Given the description of an element on the screen output the (x, y) to click on. 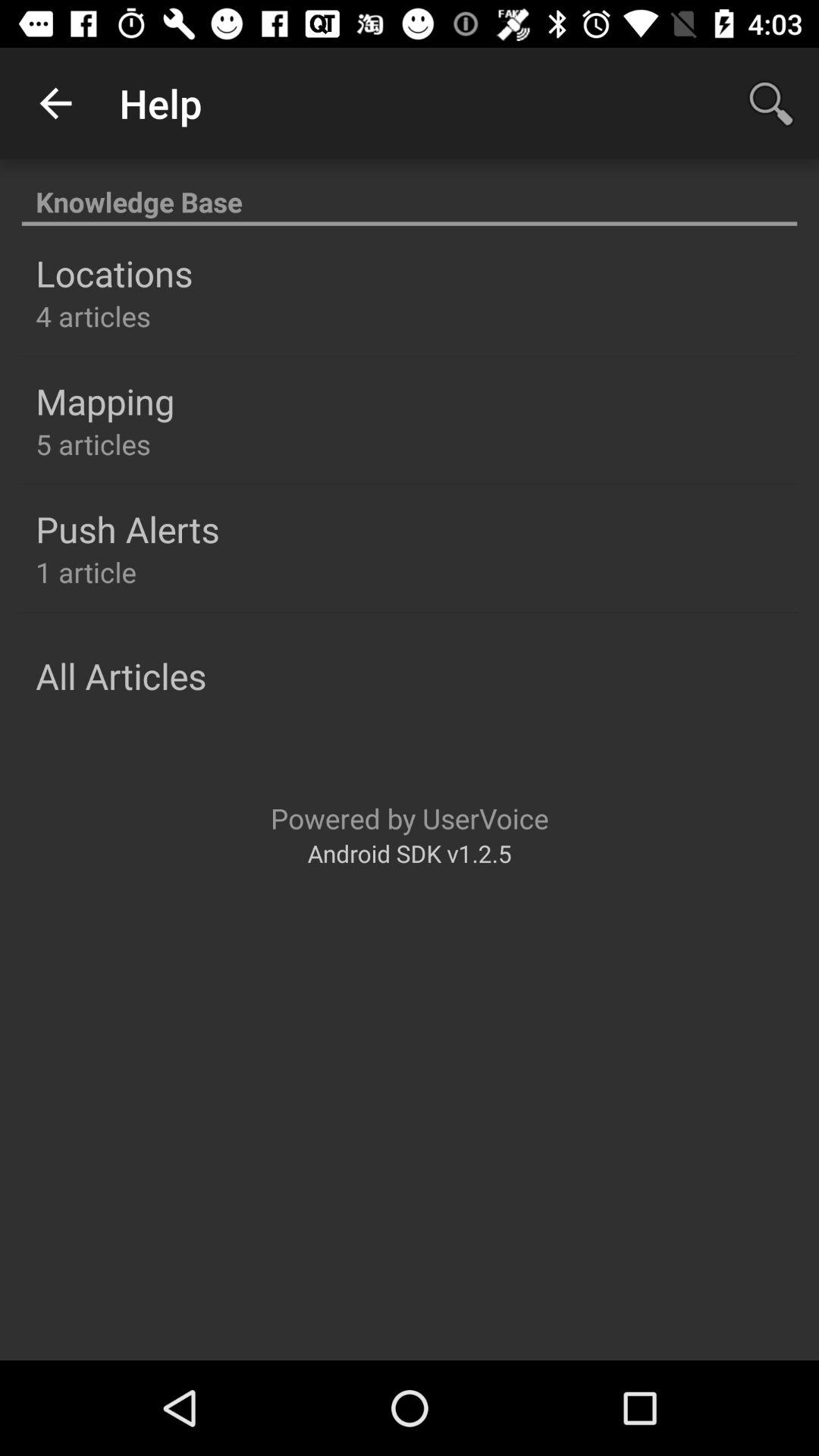
turn off icon above 5 articles item (104, 401)
